Given the description of an element on the screen output the (x, y) to click on. 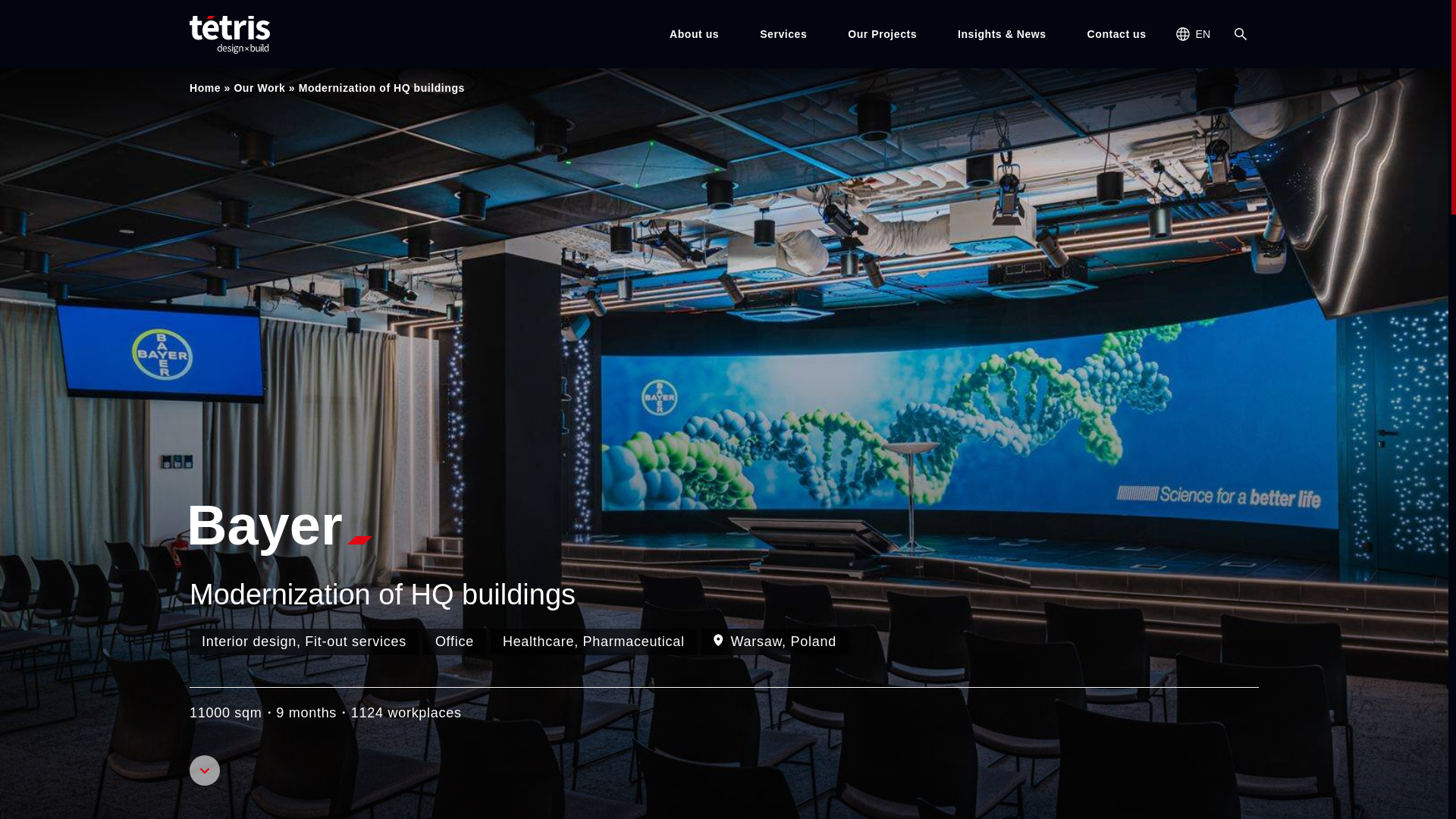
About us (694, 33)
Services (783, 33)
EN (1193, 33)
Contact us (1117, 33)
Our Projects (882, 33)
